Given the description of an element on the screen output the (x, y) to click on. 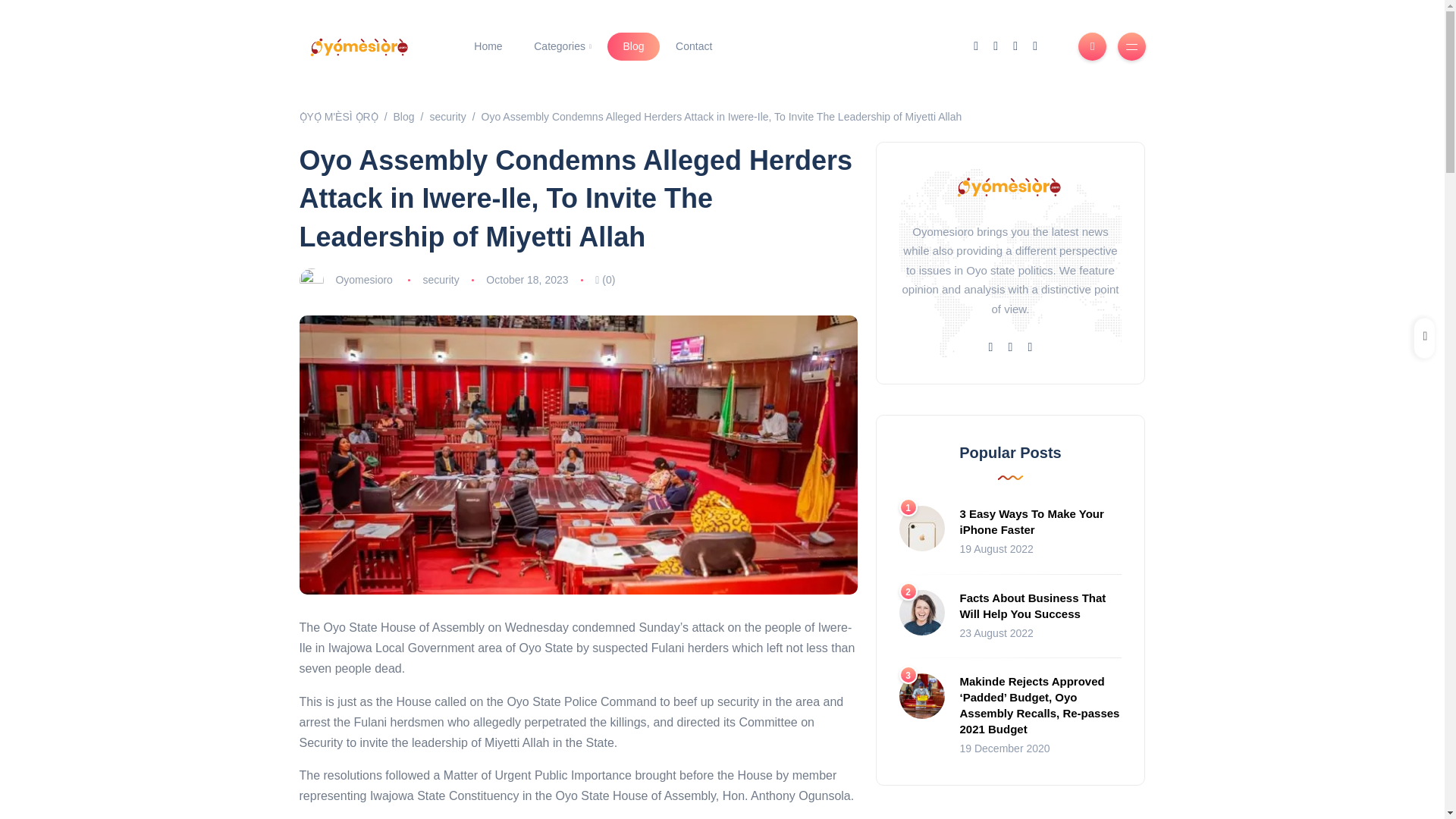
Go to Blog. (403, 116)
Go to the security Category archives. (447, 116)
Posts by Oyomesioro (362, 279)
